Given the description of an element on the screen output the (x, y) to click on. 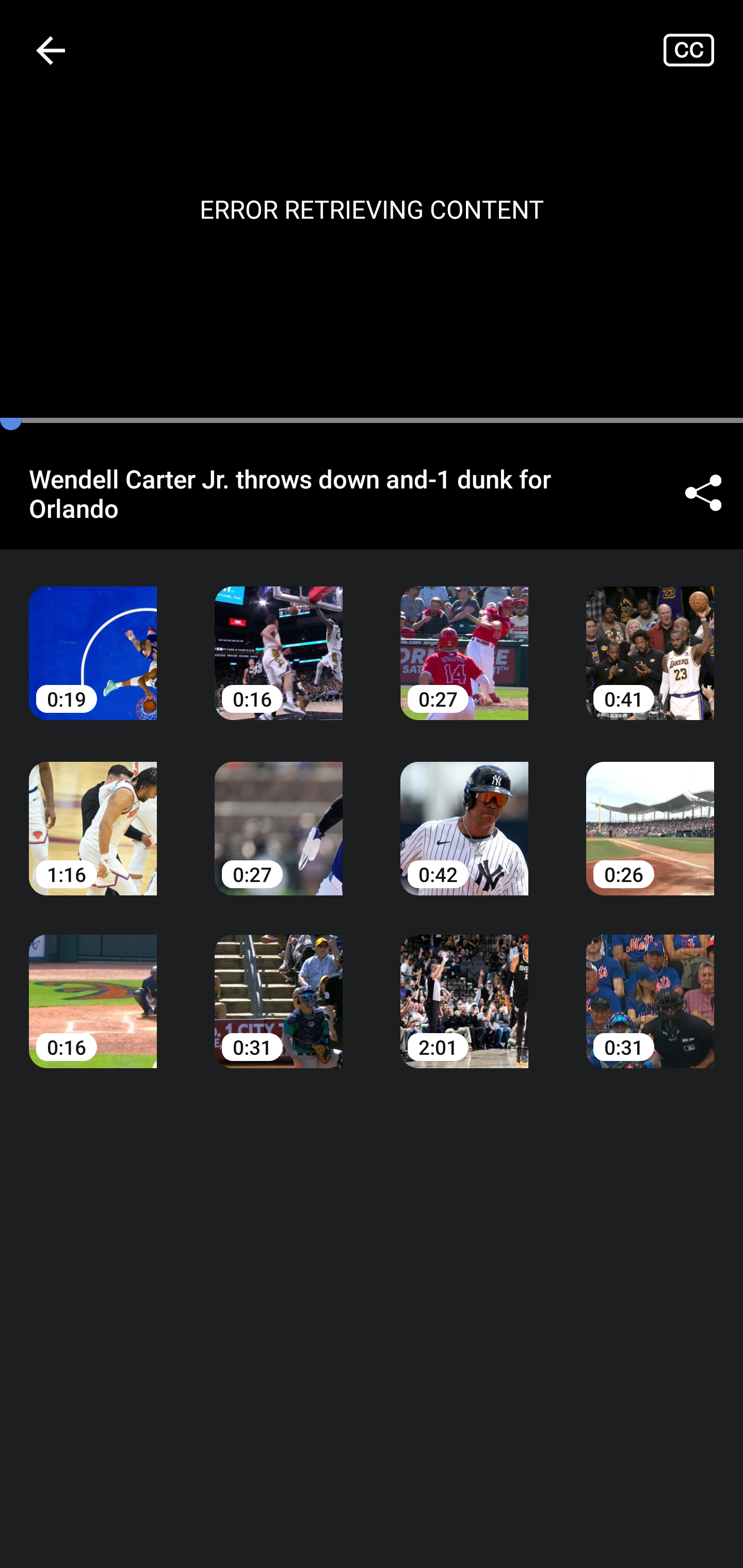
Navigate up (50, 50)
Closed captions  (703, 49)
Share © (703, 493)
0:19 (92, 637)
0:16 (278, 637)
0:27 (464, 637)
0:41 (650, 637)
1:16 (92, 813)
0:27 (278, 813)
0:42 (464, 813)
0:26 (650, 813)
0:16 (92, 987)
0:31 (278, 987)
2:01 (464, 987)
0:31 (650, 987)
